Given the description of an element on the screen output the (x, y) to click on. 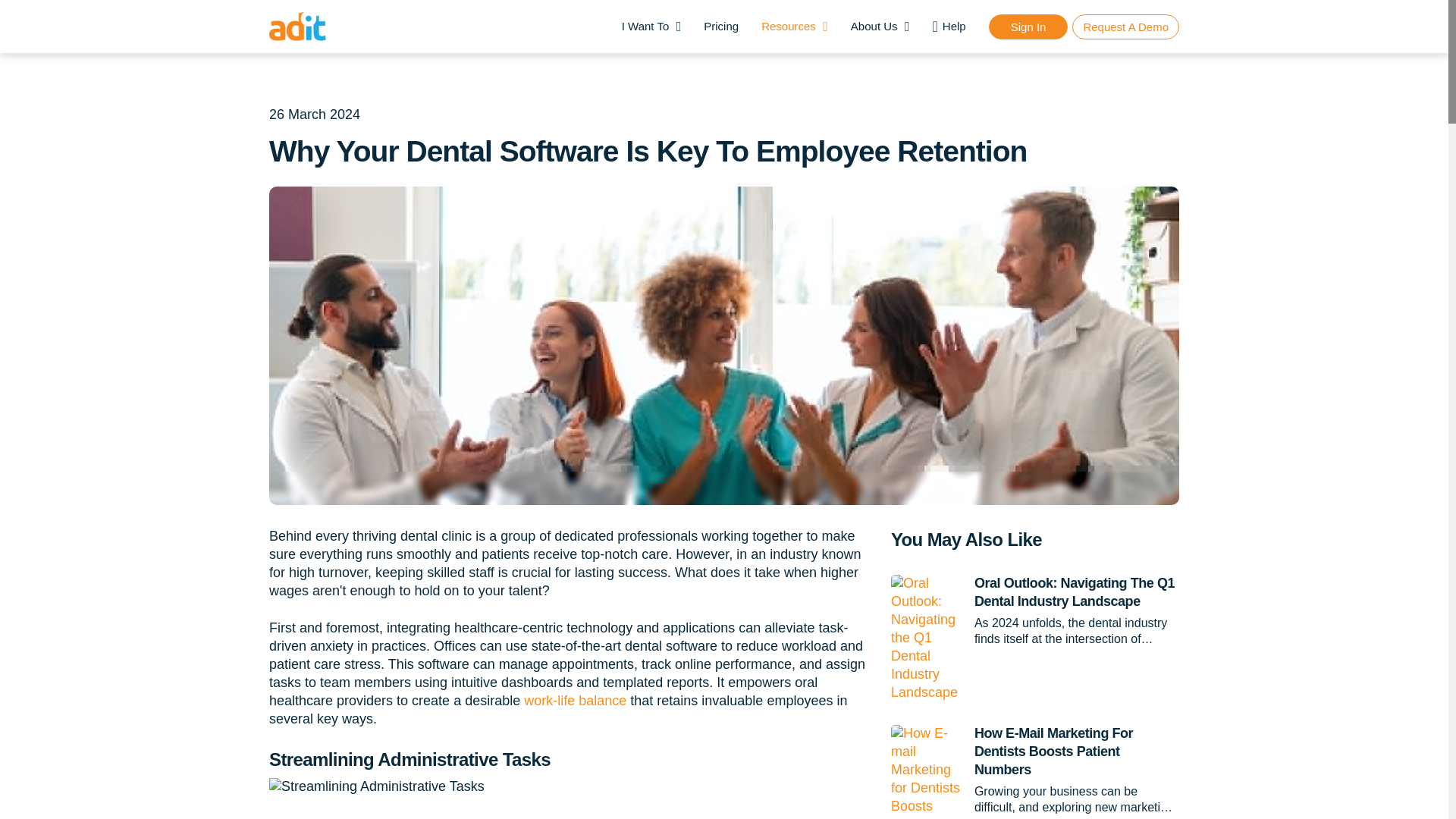
Pricing (720, 26)
Resources (794, 26)
I Want To (651, 26)
